Given the description of an element on the screen output the (x, y) to click on. 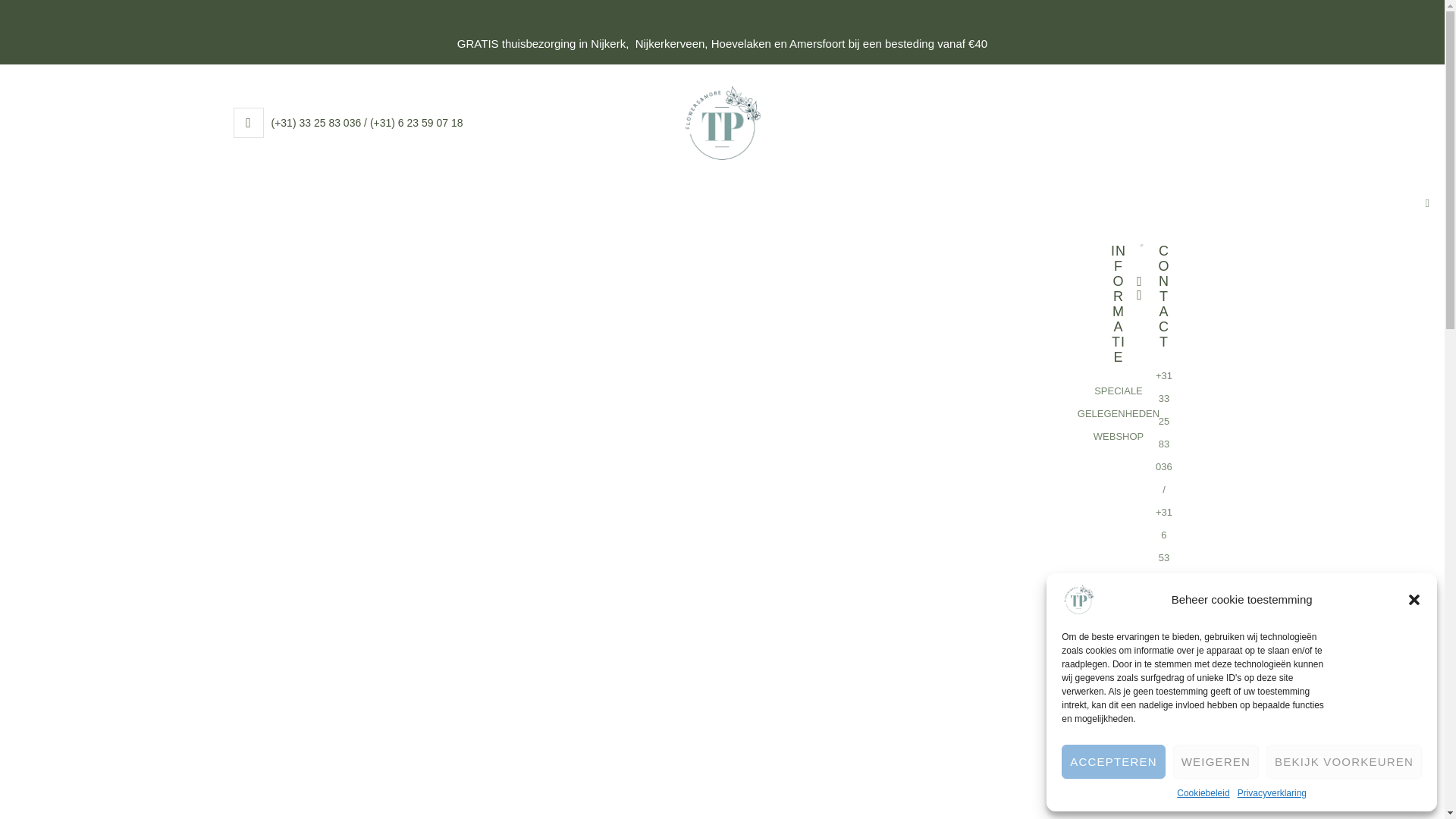
Cookiebeleid (1202, 793)
ACCEPTEREN (1113, 761)
CANDLES (418, 685)
Find Now The Answers To Your Sugar Questions (555, 725)
Quick Trip With Friends To The City Of Light (1266, 389)
Privacyverklaring (1271, 793)
ELLIOT BERTELS (535, 685)
WEIGEREN (1216, 761)
Working Hours Everyday The Same Happy Days (1279, 418)
Unforgettable Memories From Europe Journey (1273, 445)
Find Now The Answers To Your Sugar Questions (1279, 360)
30 NOVEMBER 2021 (662, 685)
Hallo wereld! (1189, 332)
BEKIJK VOORKEUREN (1344, 761)
